Given the description of an element on the screen output the (x, y) to click on. 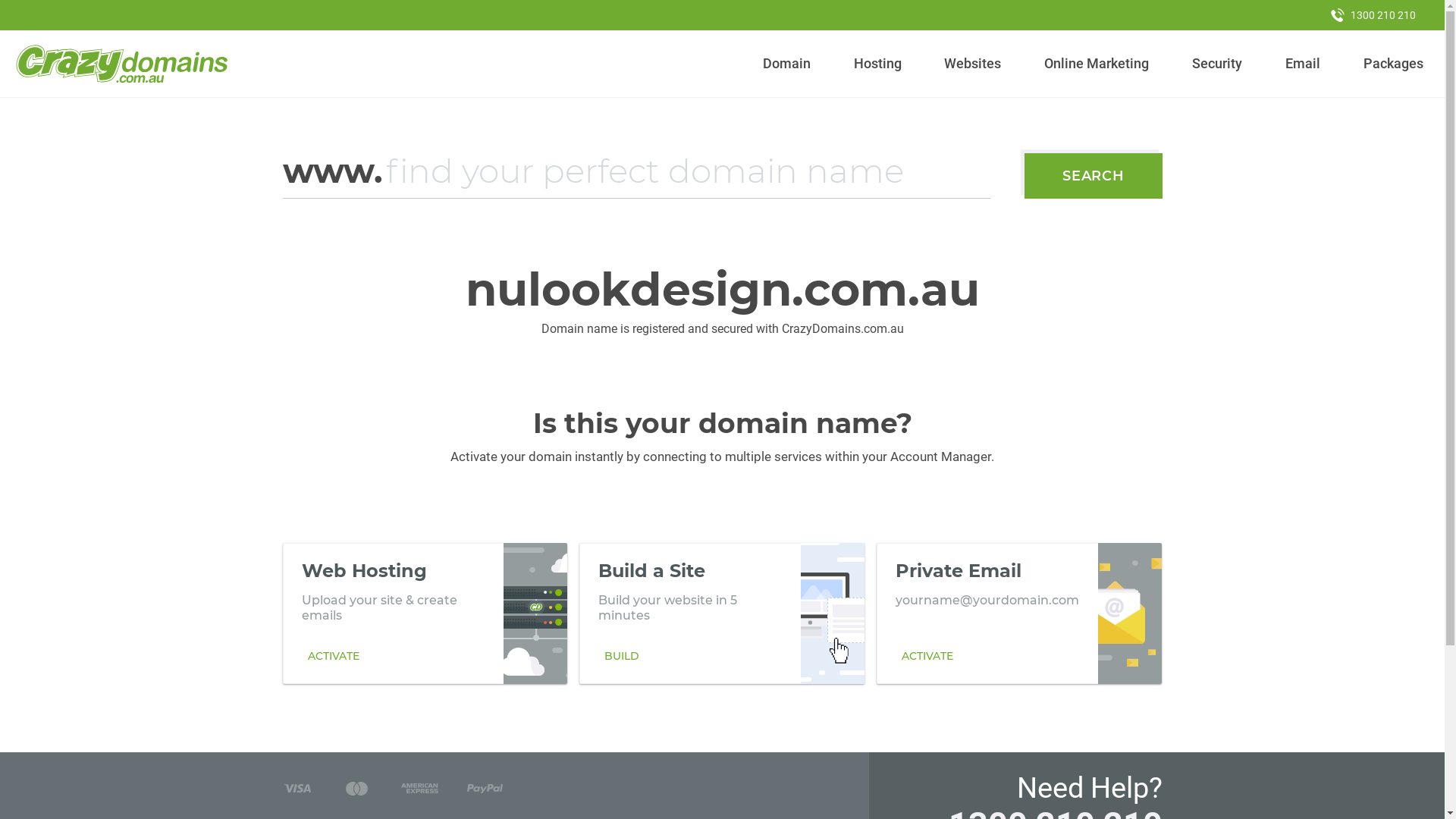
Private Email
yourname@yourdomain.com
ACTIVATE Element type: text (1018, 613)
Email Element type: text (1302, 63)
1300 210 210 Element type: text (1373, 15)
Security Element type: text (1217, 63)
Build a Site
Build your website in 5 minutes
BUILD Element type: text (721, 613)
Hosting Element type: text (877, 63)
Online Marketing Element type: text (1096, 63)
Domain Element type: text (786, 63)
SEARCH Element type: text (1092, 175)
Packages Element type: text (1392, 63)
Websites Element type: text (972, 63)
Web Hosting
Upload your site & create emails
ACTIVATE Element type: text (424, 613)
